Given the description of an element on the screen output the (x, y) to click on. 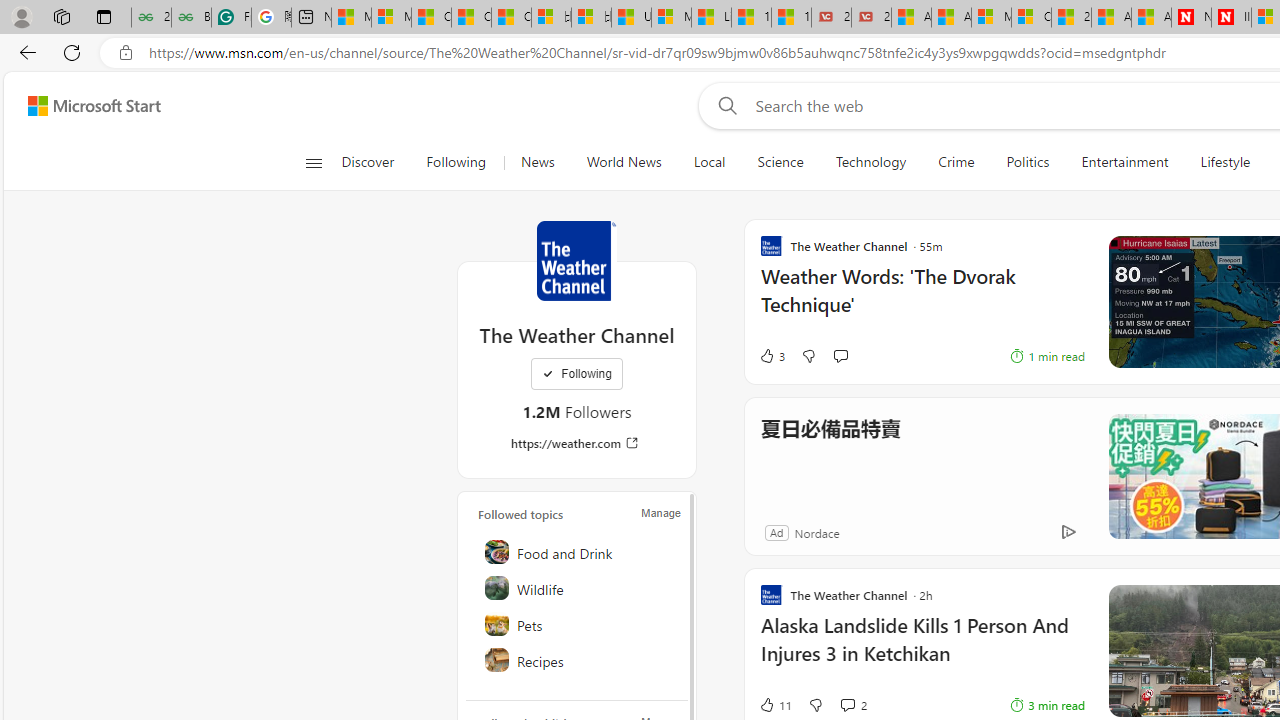
Pets (578, 623)
20 Ways to Boost Your Protein Intake at Every Meal (1071, 17)
View comments 2 Comment (847, 704)
